Given the description of an element on the screen output the (x, y) to click on. 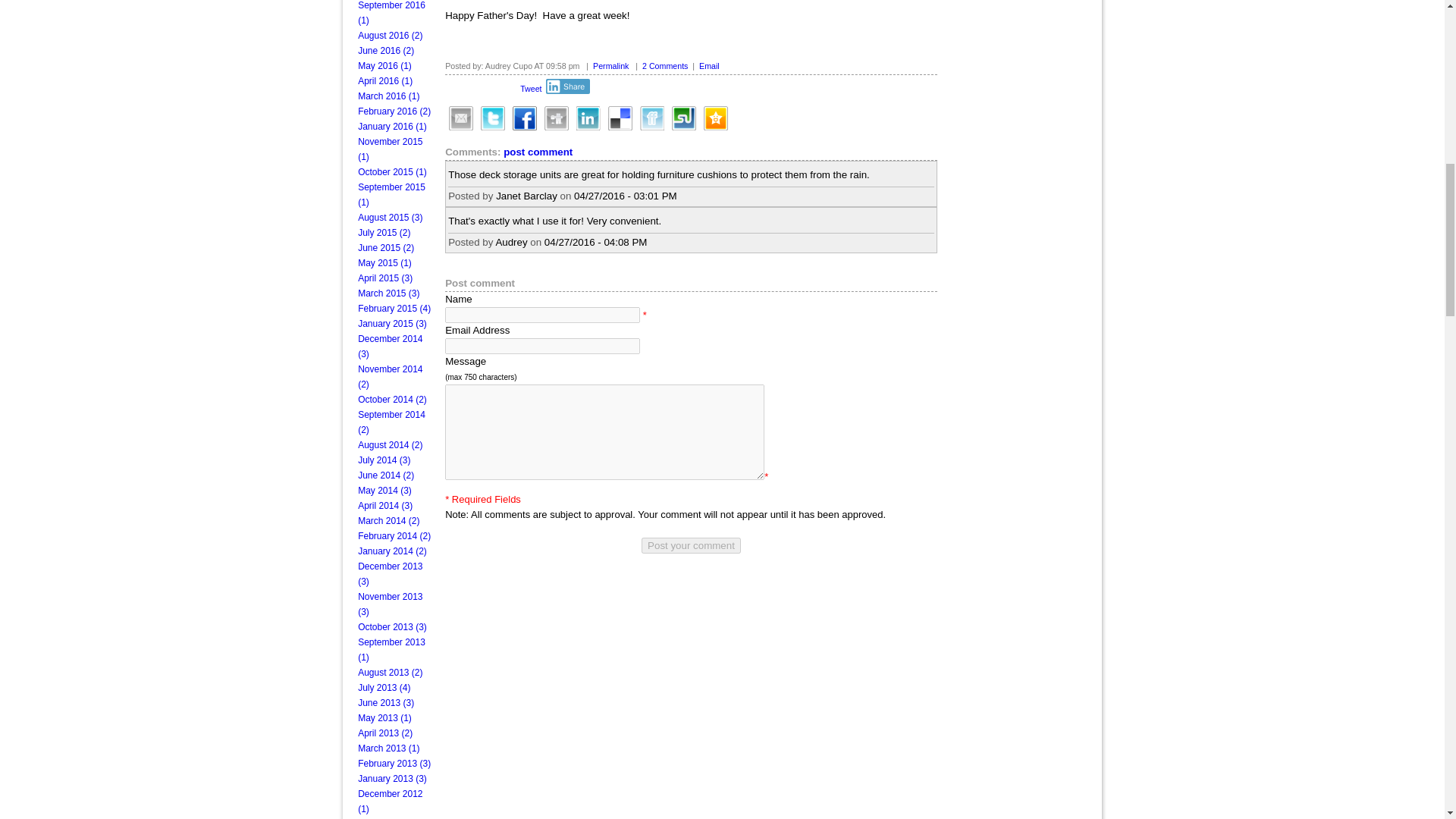
Post your comment (691, 545)
